Given the description of an element on the screen output the (x, y) to click on. 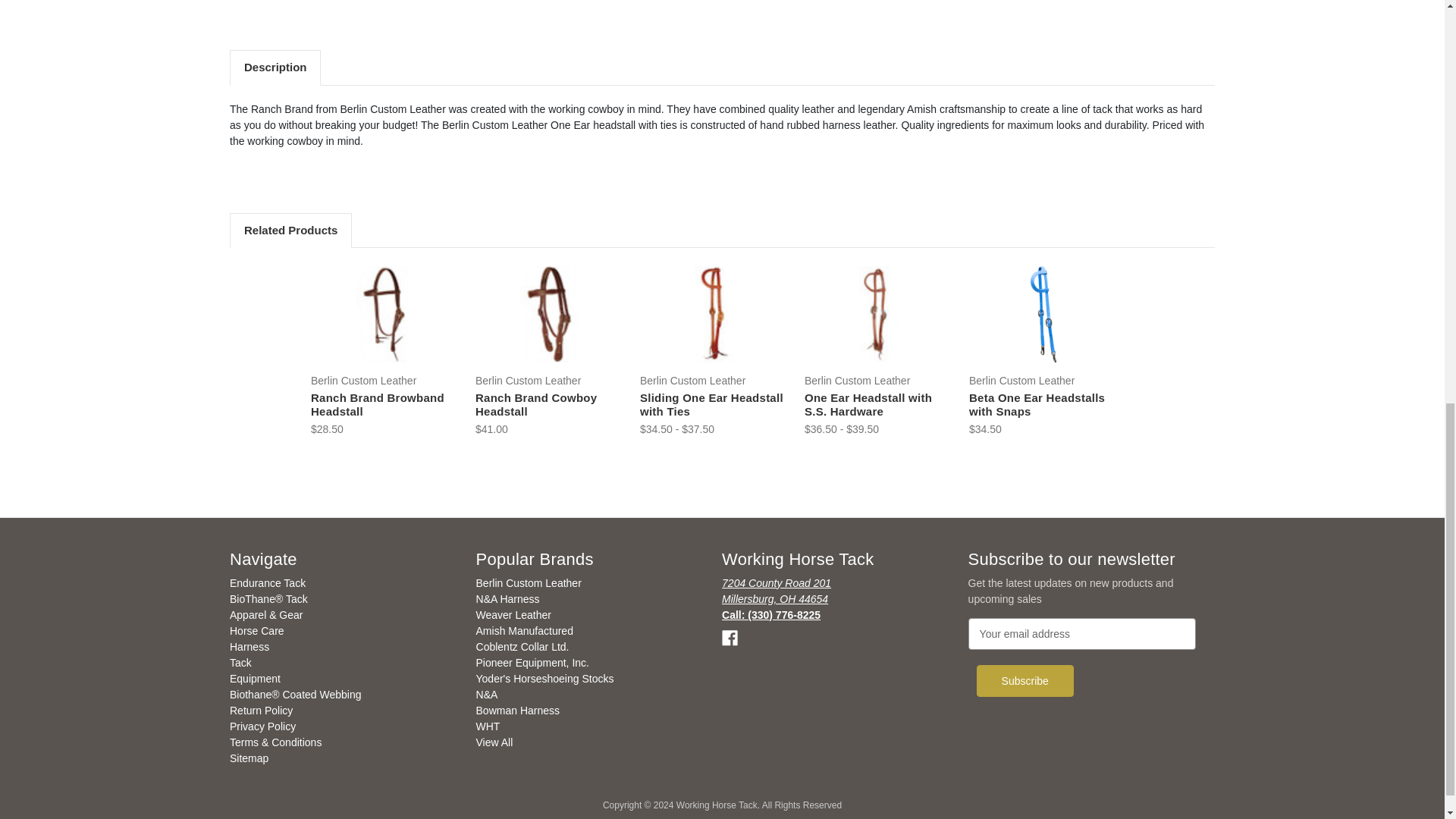
Subscribe (1025, 680)
One Ear Headstall with S.S. Hardware (878, 314)
Beta One Ear Headstalls with Snaps (1043, 314)
Ranch Brand Cowboy Headstall (549, 314)
Sliding One Ear Headstall with Ties (714, 314)
Ranch Brand Browband Headstall (385, 314)
